Given the description of an element on the screen output the (x, y) to click on. 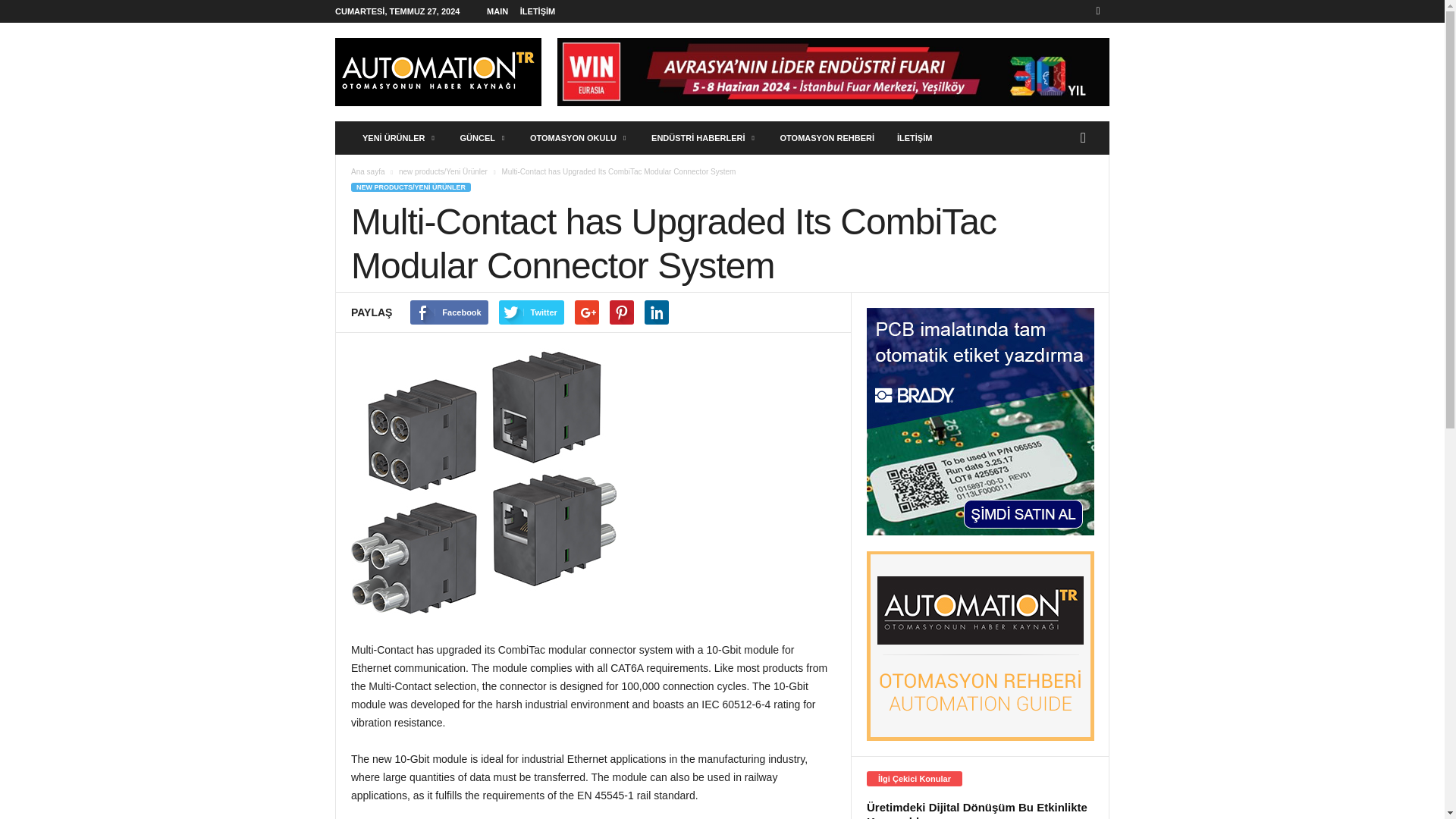
Automationtr (437, 71)
MAIN (497, 10)
